Given the description of an element on the screen output the (x, y) to click on. 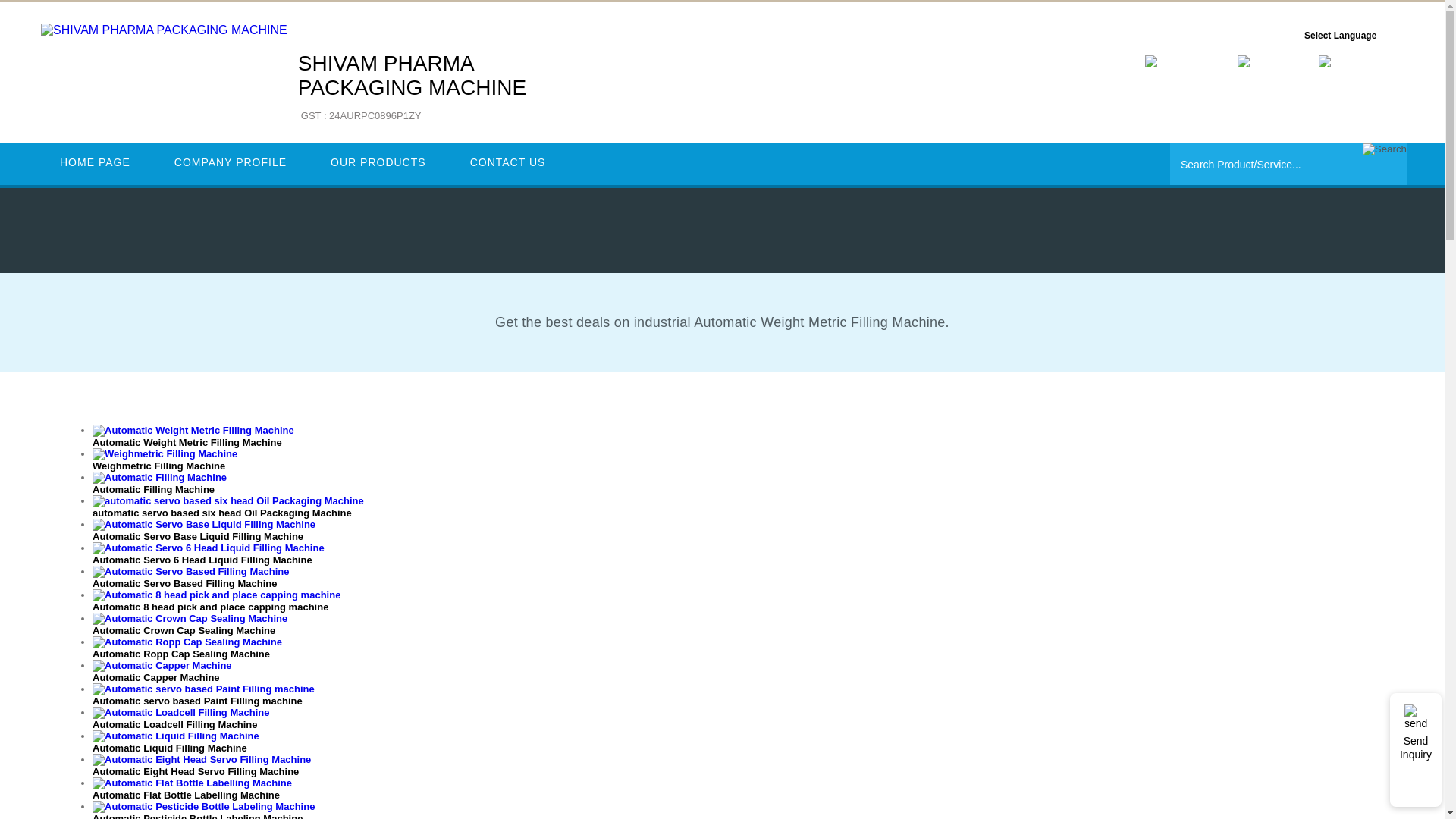
Weighmetric Filling Machine (165, 459)
OUR PRODUCTS (378, 161)
submit (411, 87)
HOME PAGE (1384, 149)
CONTACT US (94, 161)
submit (507, 161)
Select Language (1384, 149)
Automatic Weight Metric Filling Machine (1340, 35)
